Given the description of an element on the screen output the (x, y) to click on. 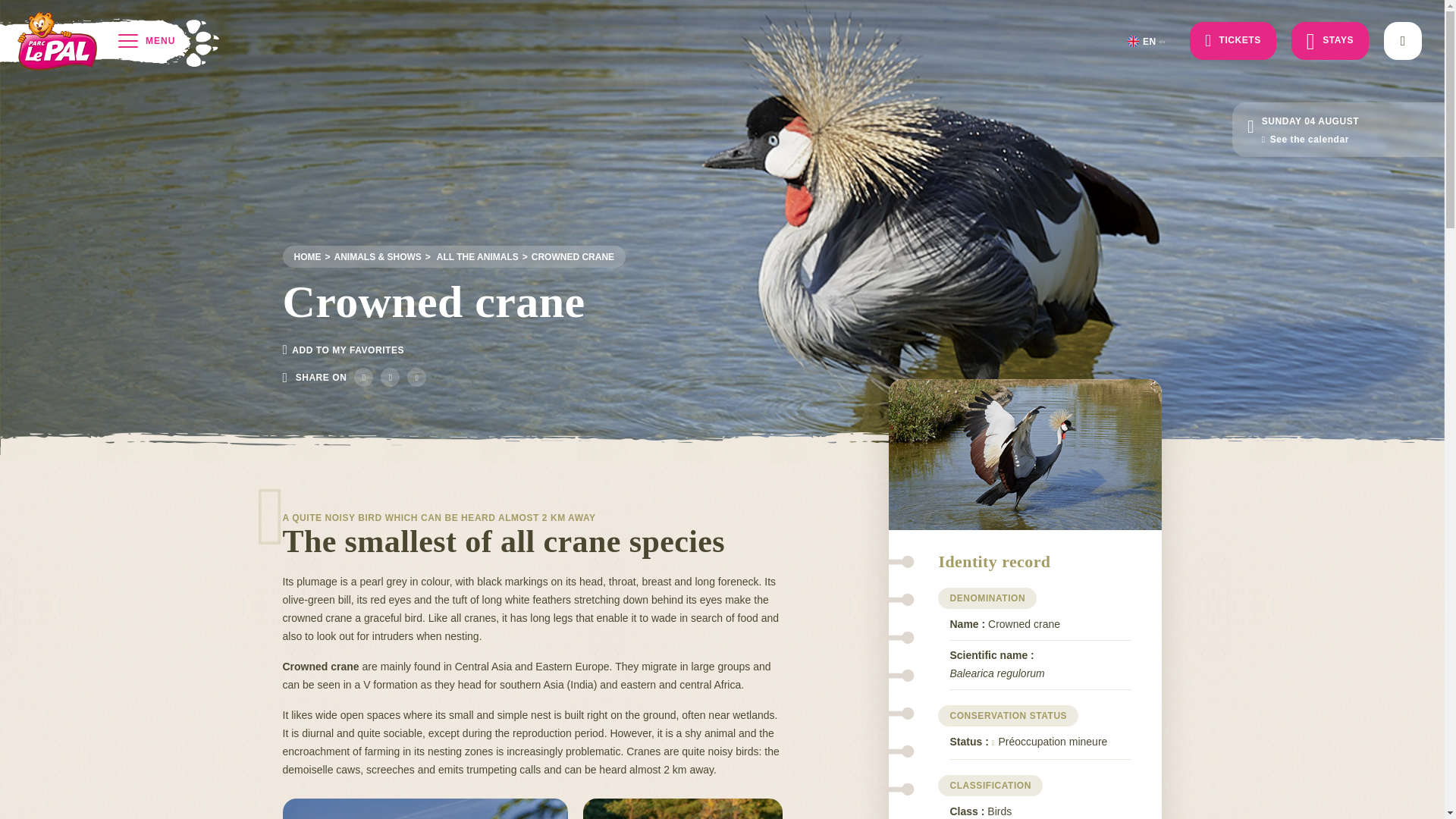
Share by email (416, 376)
Share on Facebook (362, 376)
Share on twitter (389, 376)
Home (470, 256)
Crowned crane (307, 256)
Change the language (566, 256)
Show menu (1152, 42)
